Given the description of an element on the screen output the (x, y) to click on. 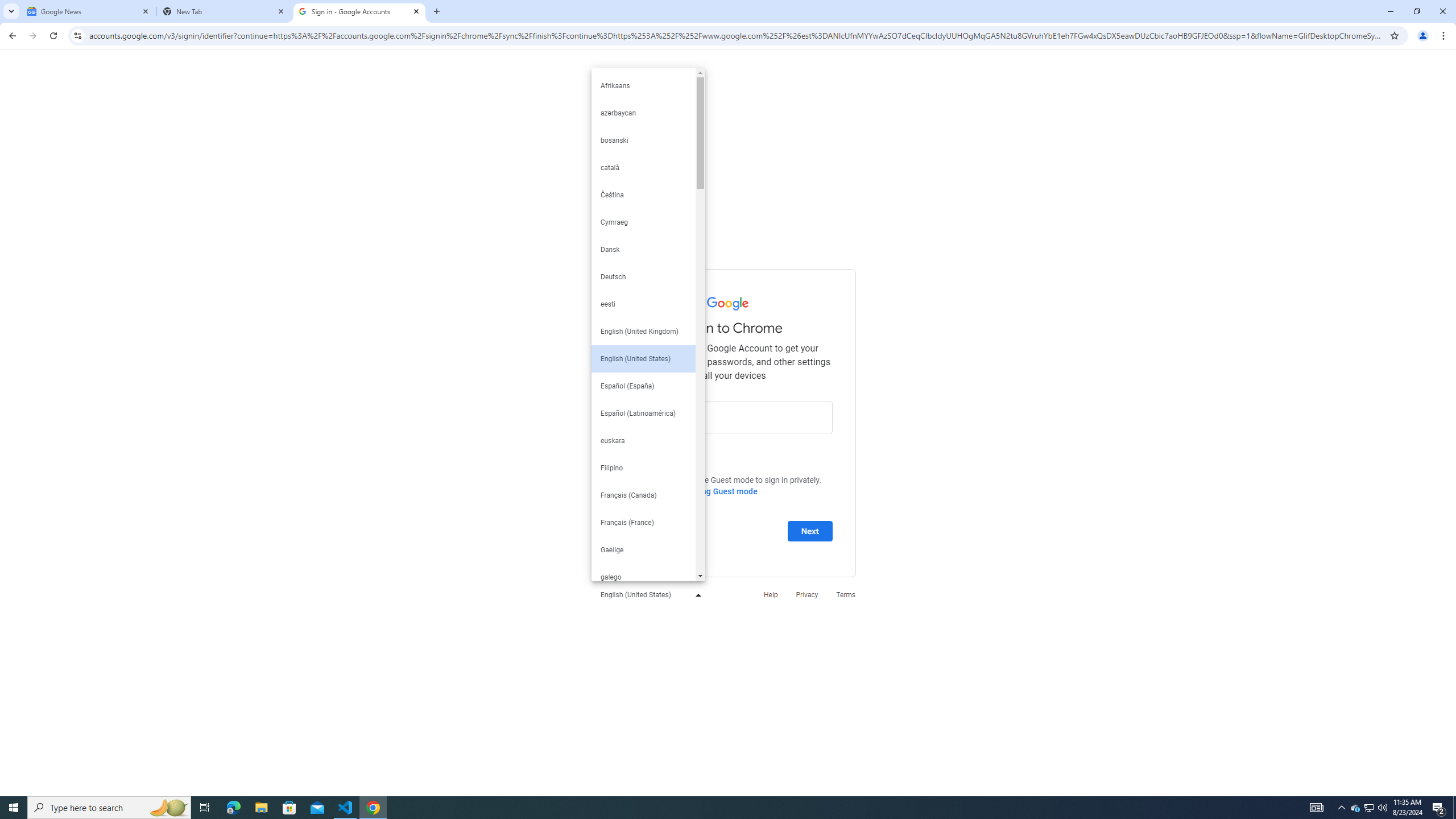
New Tab (224, 11)
Cymraeg (643, 221)
English (United Kingdom) (643, 331)
bosanski (643, 139)
English (United States) (643, 358)
Forgot email? (648, 443)
Filipino (643, 467)
eesti (643, 303)
